Given the description of an element on the screen output the (x, y) to click on. 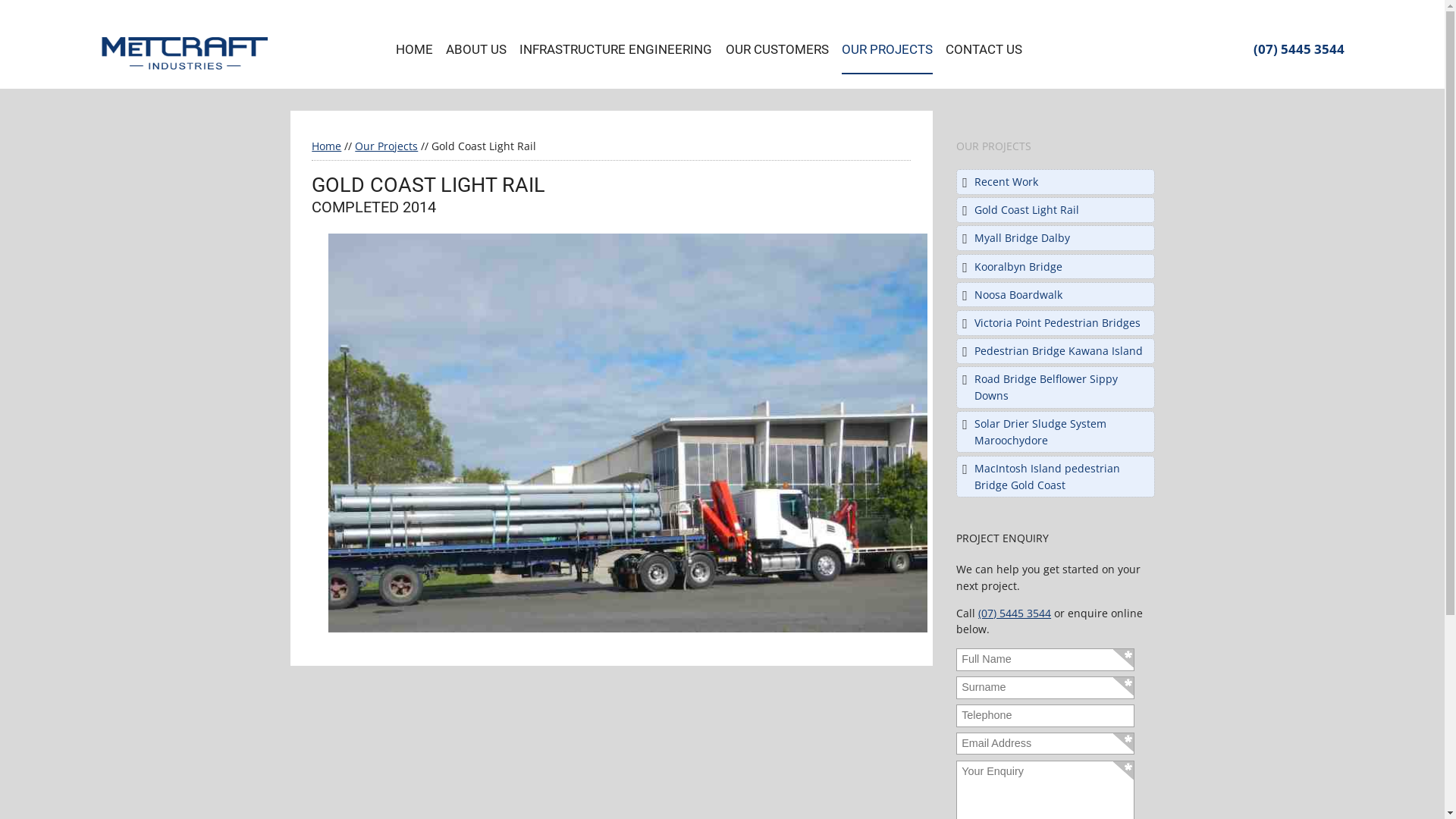
Our Projects Element type: text (385, 145)
Home Element type: text (326, 145)
CONTACT US Element type: text (983, 49)
(07) 5445 3544 Element type: text (1297, 48)
HOME Element type: text (414, 49)
ABOUT US Element type: text (475, 49)
Road Bridge Belflower Sippy Downs Element type: text (1045, 386)
Pedestrian Bridge Kawana Island Element type: text (1058, 350)
MacIntosh Island pedestrian Bridge Gold Coast Element type: text (1047, 476)
Noosa Boardwalk Element type: text (1018, 294)
Metcraft Industries Element type: hover (183, 52)
Myall Bridge Dalby Element type: text (1022, 237)
INFRASTRUCTURE ENGINEERING Element type: text (615, 49)
Solar Drier Sludge System Maroochydore Element type: text (1040, 431)
Victoria Point Pedestrian Bridges Element type: text (1057, 322)
Recent Work Element type: text (1006, 181)
OUR CUSTOMERS Element type: text (776, 49)
Gold Coast Light Rail Element type: text (1026, 209)
OUR PROJECTS Element type: text (886, 50)
(07) 5445 3544 Element type: text (1014, 612)
Kooralbyn Bridge Element type: text (1018, 266)
